Given the description of an element on the screen output the (x, y) to click on. 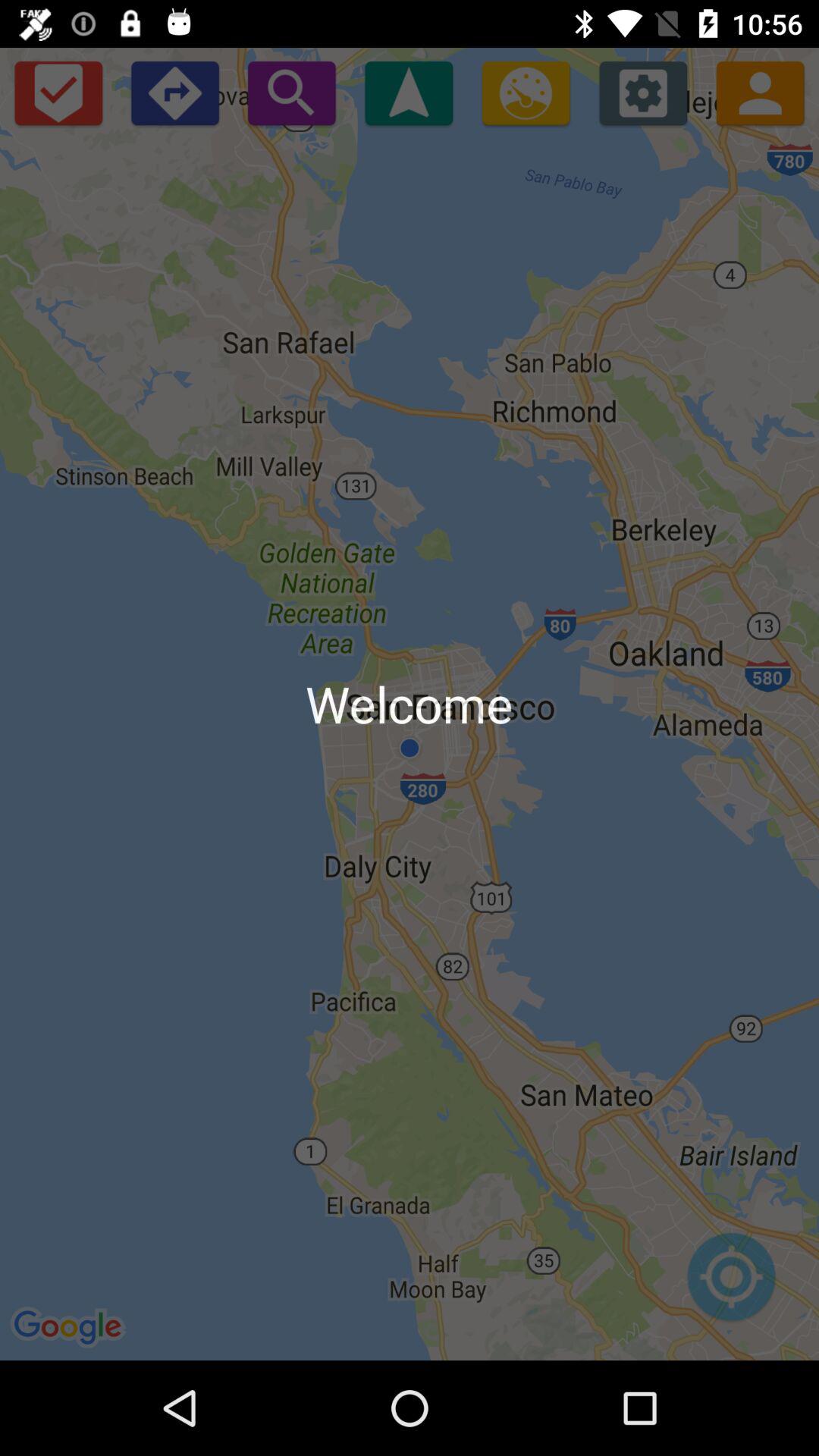
open search bar (291, 92)
